Given the description of an element on the screen output the (x, y) to click on. 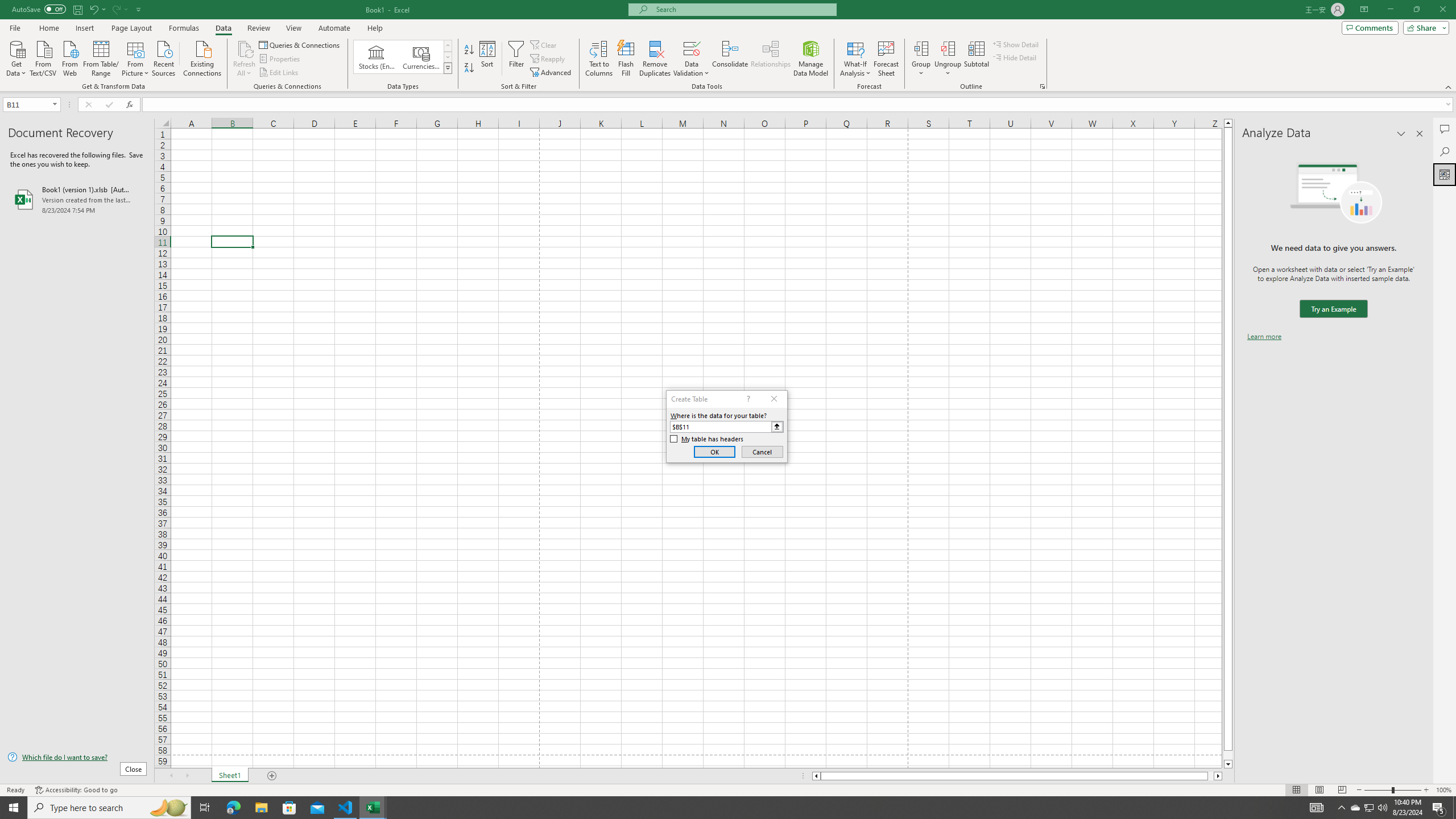
Consolidate... (729, 58)
